Given the description of an element on the screen output the (x, y) to click on. 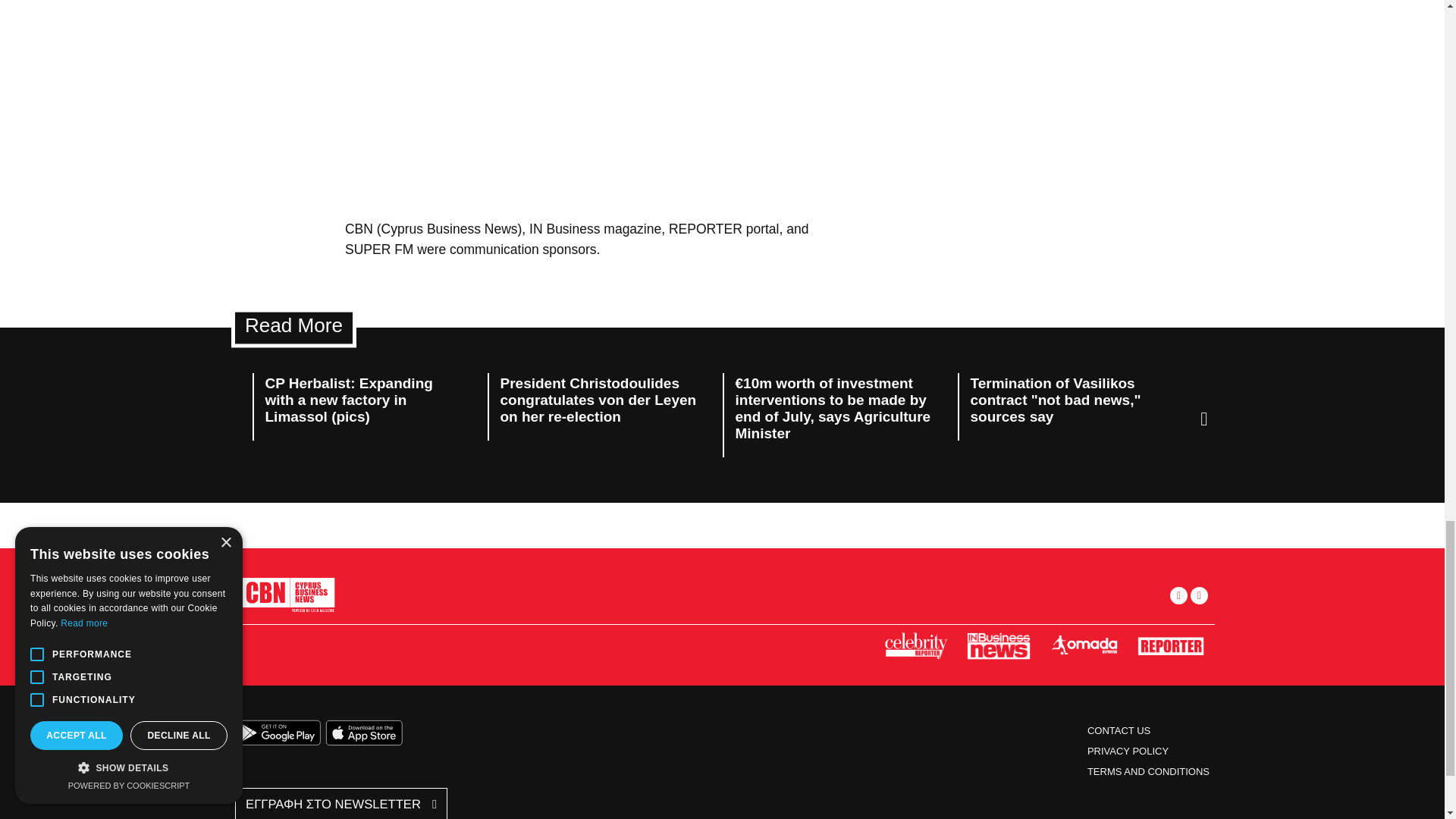
3rd party ad content (589, 108)
